Given the description of an element on the screen output the (x, y) to click on. 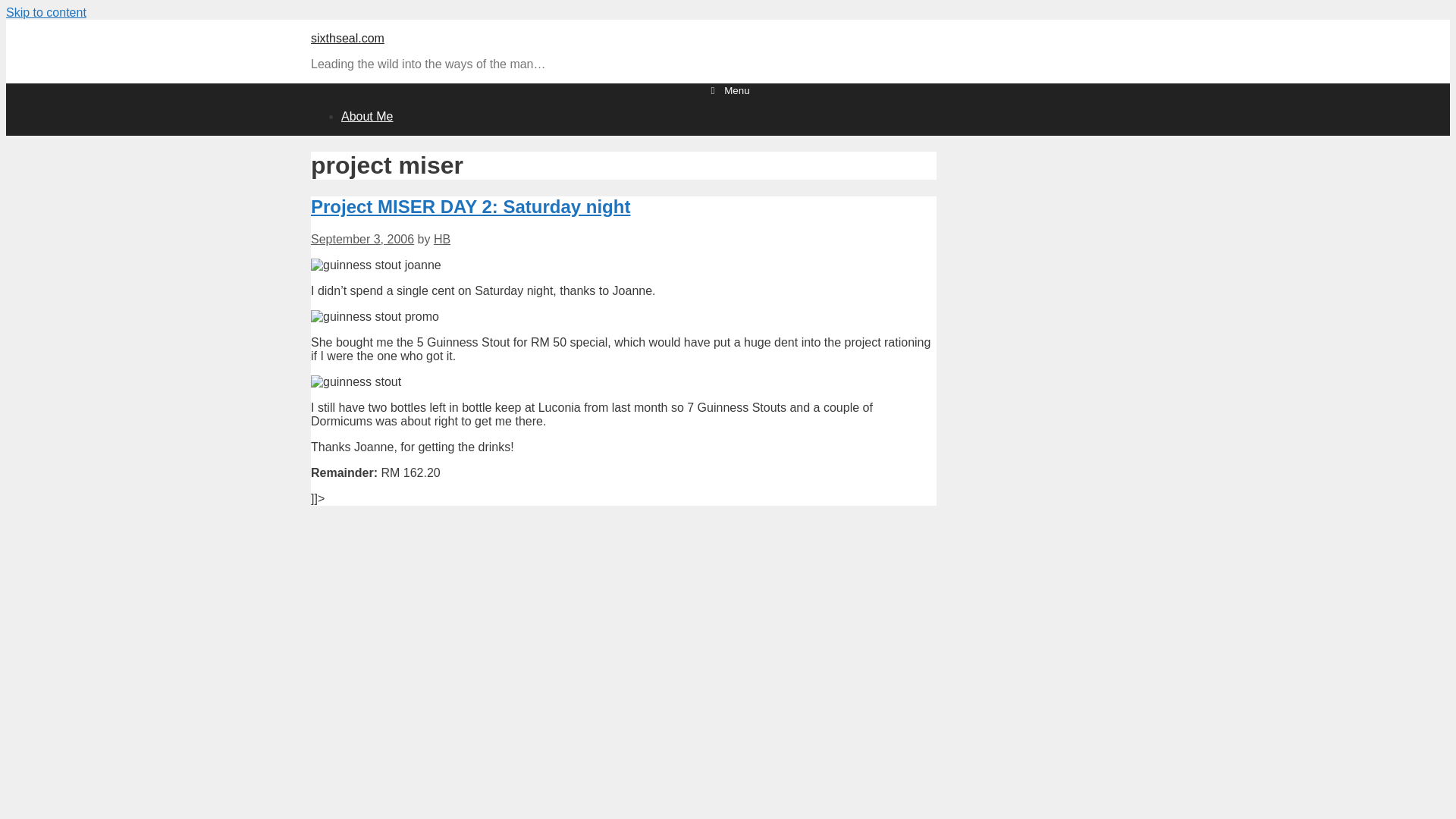
Project MISER DAY 2: Saturday night (470, 206)
September 3, 2006 (362, 238)
Menu (727, 90)
Skip to content (45, 11)
View all posts by HB (441, 238)
Skip to content (45, 11)
9:25 am (362, 238)
About Me (366, 115)
HB (441, 238)
sixthseal.com (347, 38)
